Given the description of an element on the screen output the (x, y) to click on. 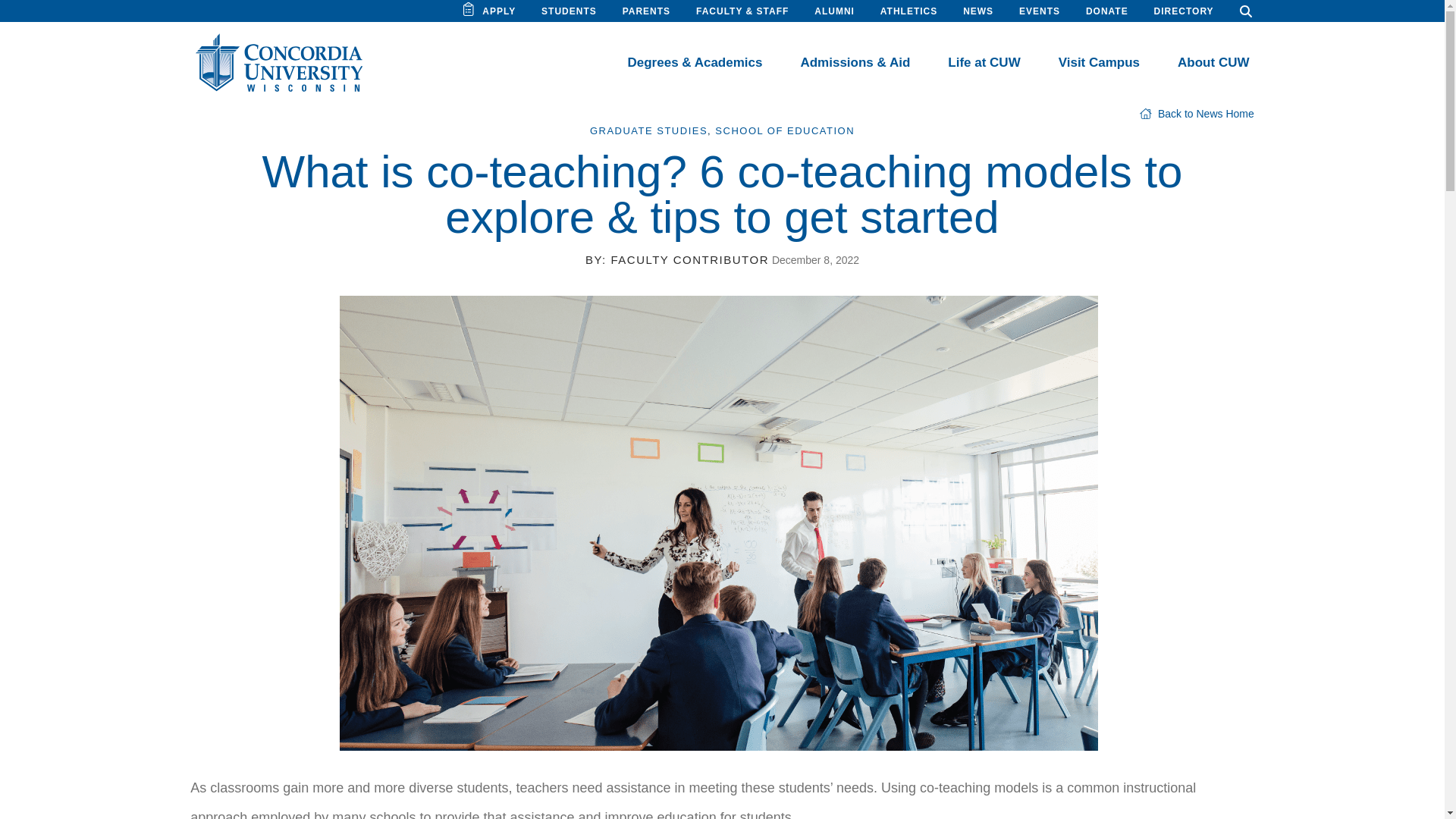
About CUW (1213, 62)
EVENTS (1039, 11)
GRADUATE STUDIES (648, 130)
STUDENTS (568, 11)
Life at CUW (983, 62)
APPLY (498, 11)
BY: FACULTY CONTRIBUTOR (676, 259)
PARENTS (646, 11)
NEWS (977, 11)
DONATE (1107, 11)
DIRECTORY (1184, 11)
ATHLETICS (908, 11)
Visit Campus (1099, 62)
SCHOOL OF EDUCATION (784, 130)
ALUMNI (833, 11)
